Given the description of an element on the screen output the (x, y) to click on. 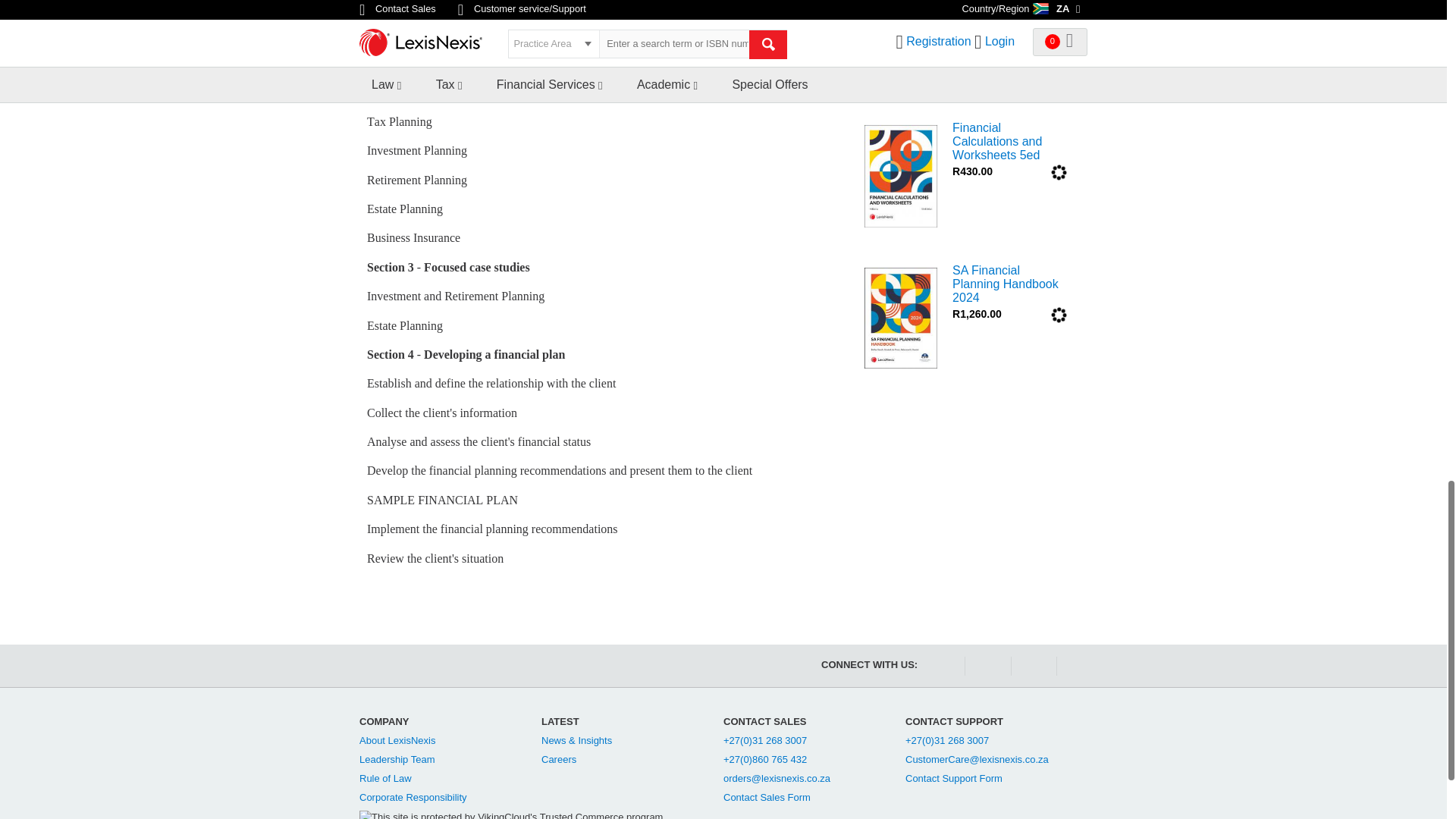
Find us on LinkedIn (1032, 665)
Find us on Twitter (1077, 665)
Find us on Facebook (940, 665)
Find us on Youtube (985, 665)
